Given the description of an element on the screen output the (x, y) to click on. 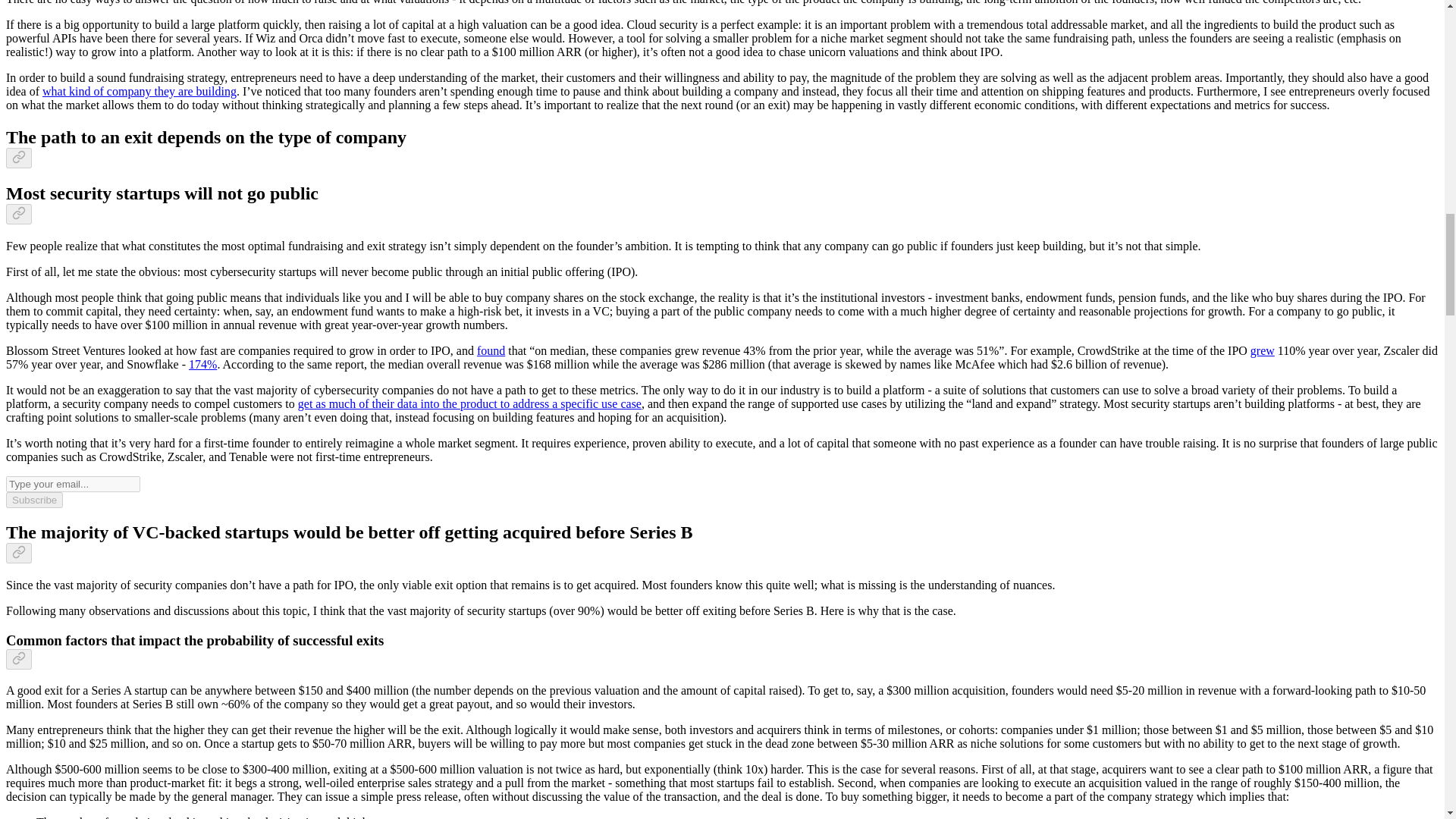
found (491, 350)
grew (1262, 350)
what kind of company they are building (138, 91)
